Given the description of an element on the screen output the (x, y) to click on. 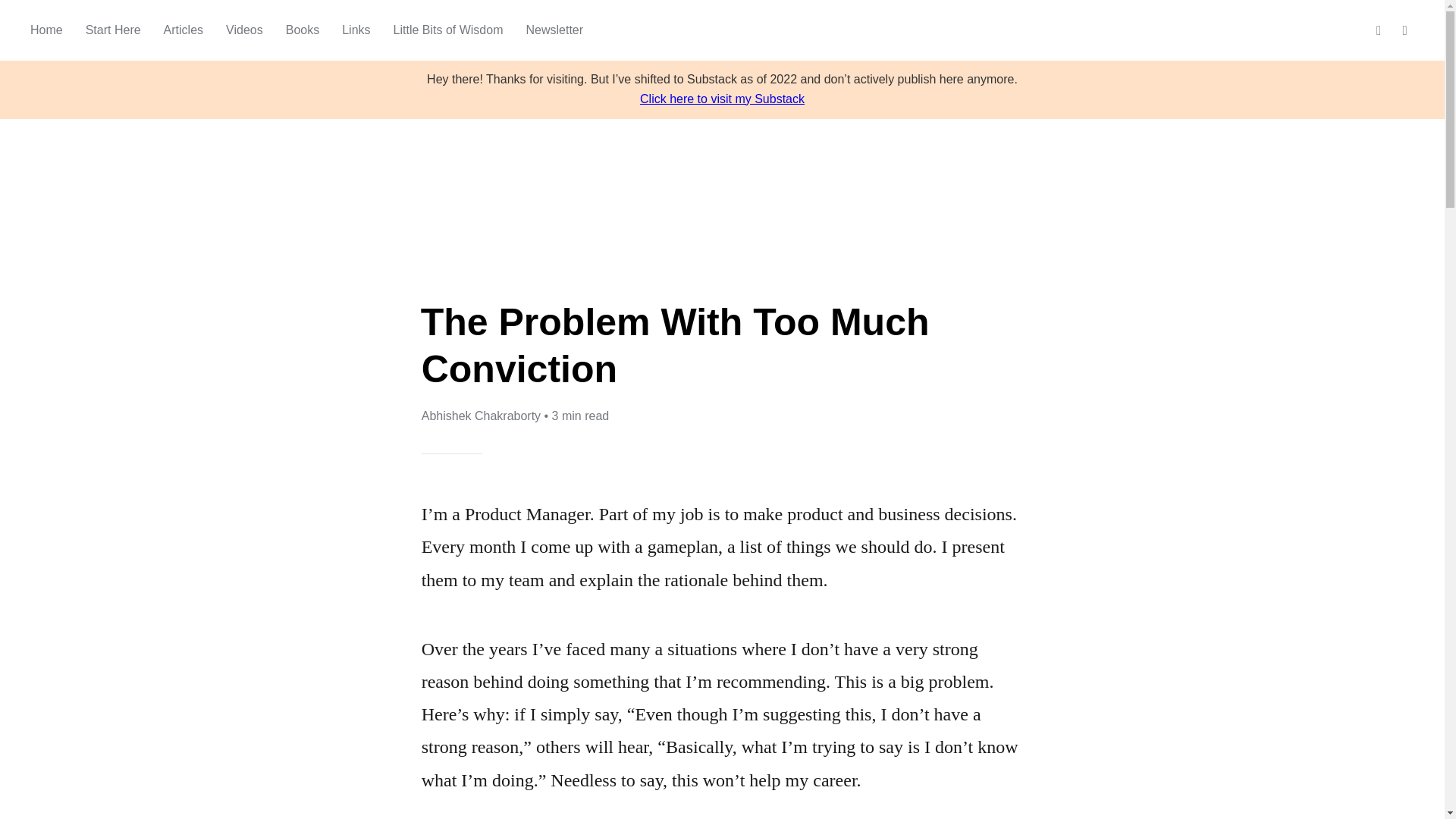
Newsletter (554, 30)
Articles (183, 30)
Home (46, 30)
Videos (244, 30)
Little Bits of Wisdom (448, 30)
Links (355, 30)
Click here to visit my Substack (722, 98)
Books (301, 30)
Start Here (113, 30)
